Given the description of an element on the screen output the (x, y) to click on. 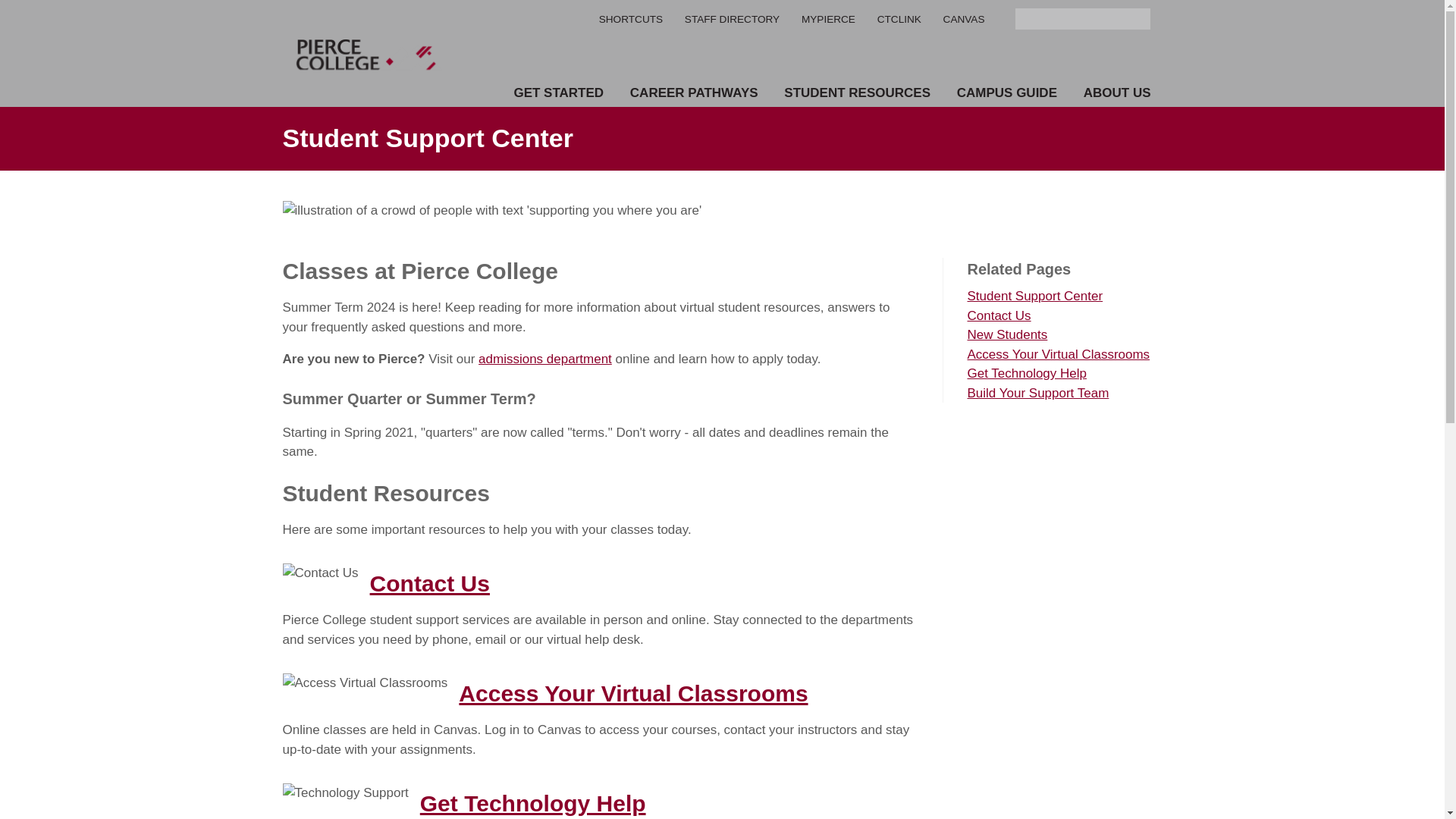
CANVAS (964, 19)
STAFF DIRECTORY (731, 19)
SHORTCUTS (630, 19)
MYPIERCE (829, 19)
CTCLINK (899, 19)
Enter the terms you wish to search for. (1082, 18)
GET STARTED (558, 92)
Home (366, 53)
